Given the description of an element on the screen output the (x, y) to click on. 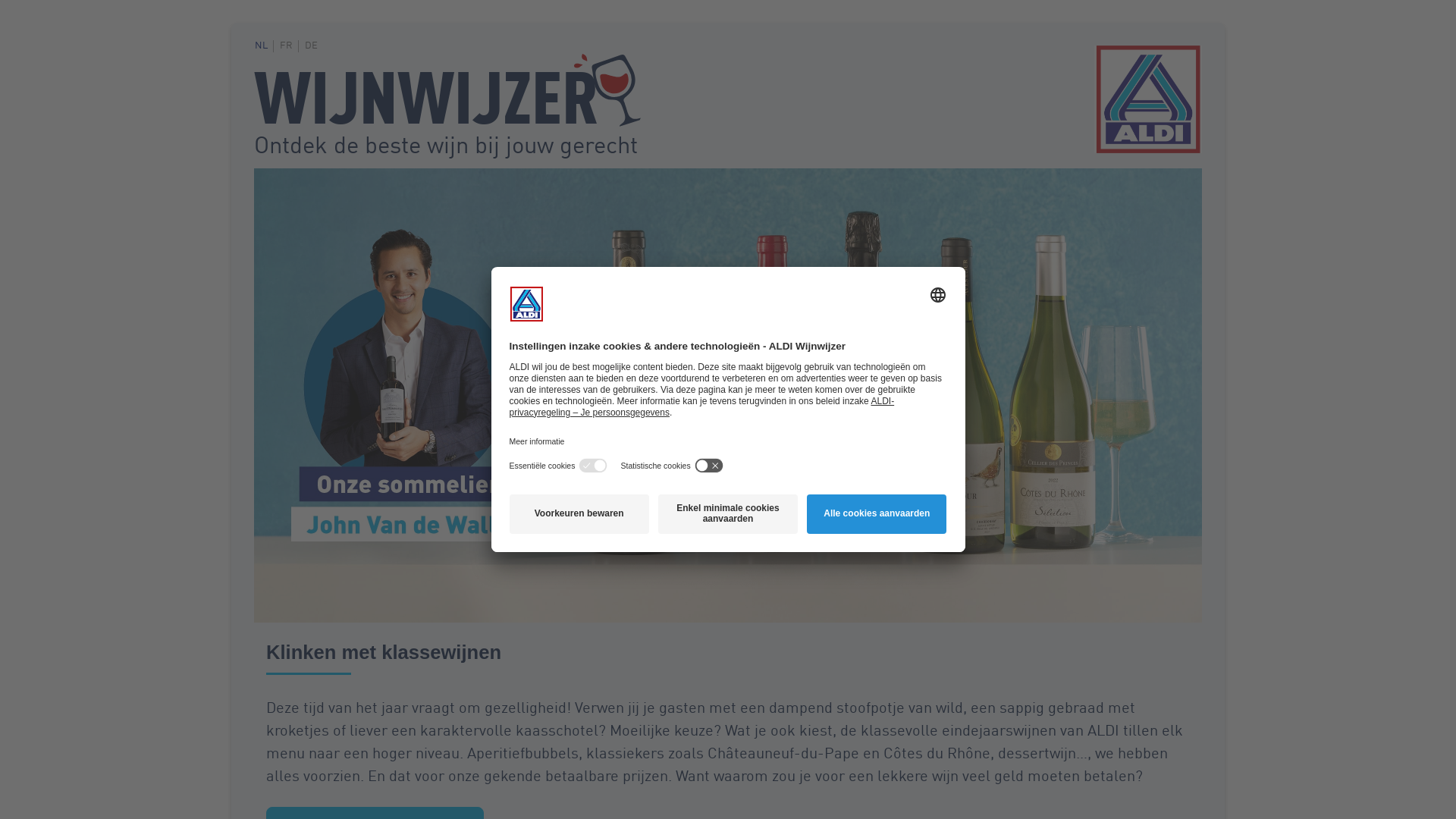
Skip to content Element type: text (253, 44)
DE Element type: text (313, 45)
NL Element type: text (263, 45)
FR Element type: text (288, 45)
